Given the description of an element on the screen output the (x, y) to click on. 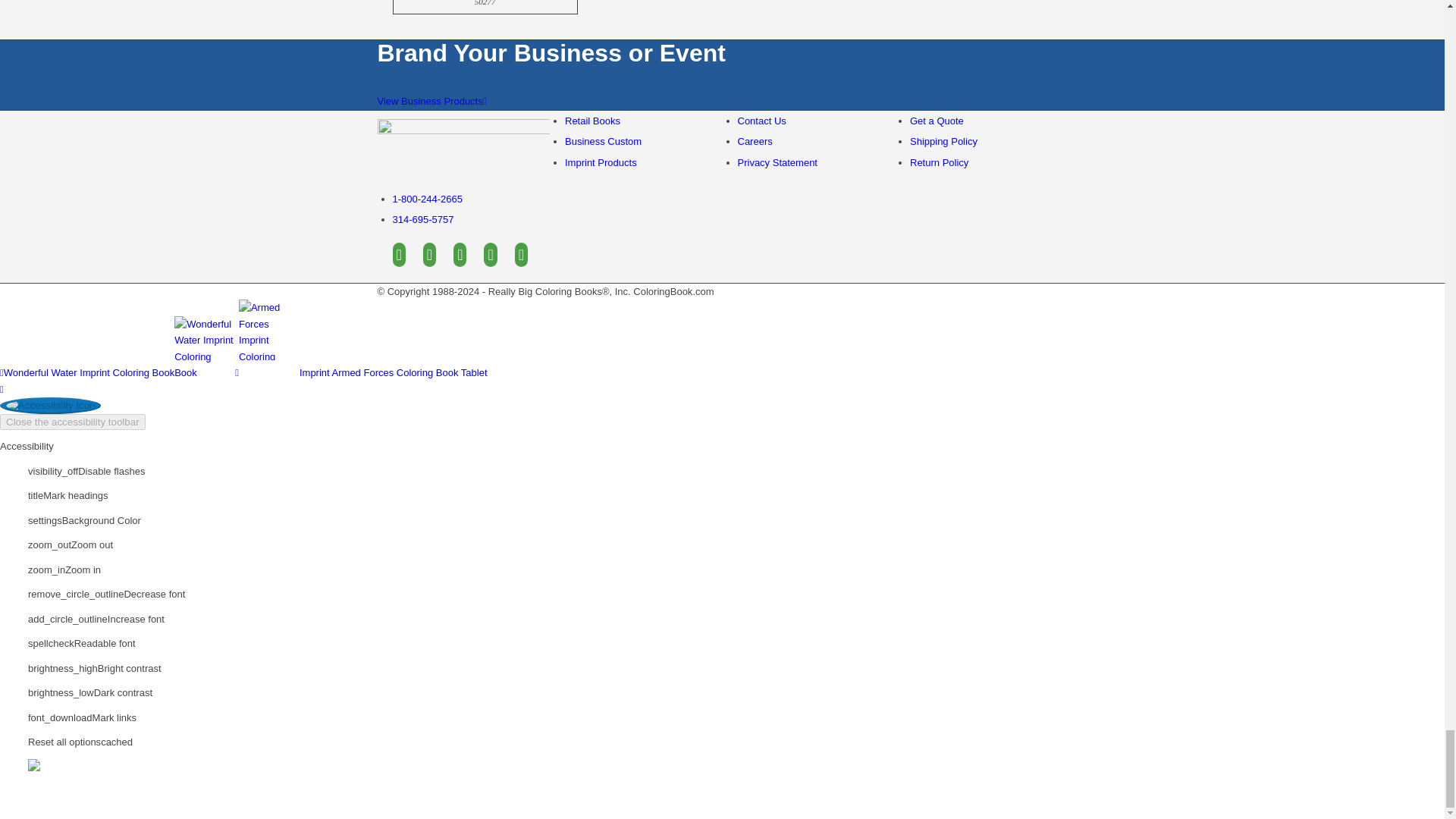
Facebook (399, 254)
X (429, 254)
